Given the description of an element on the screen output the (x, y) to click on. 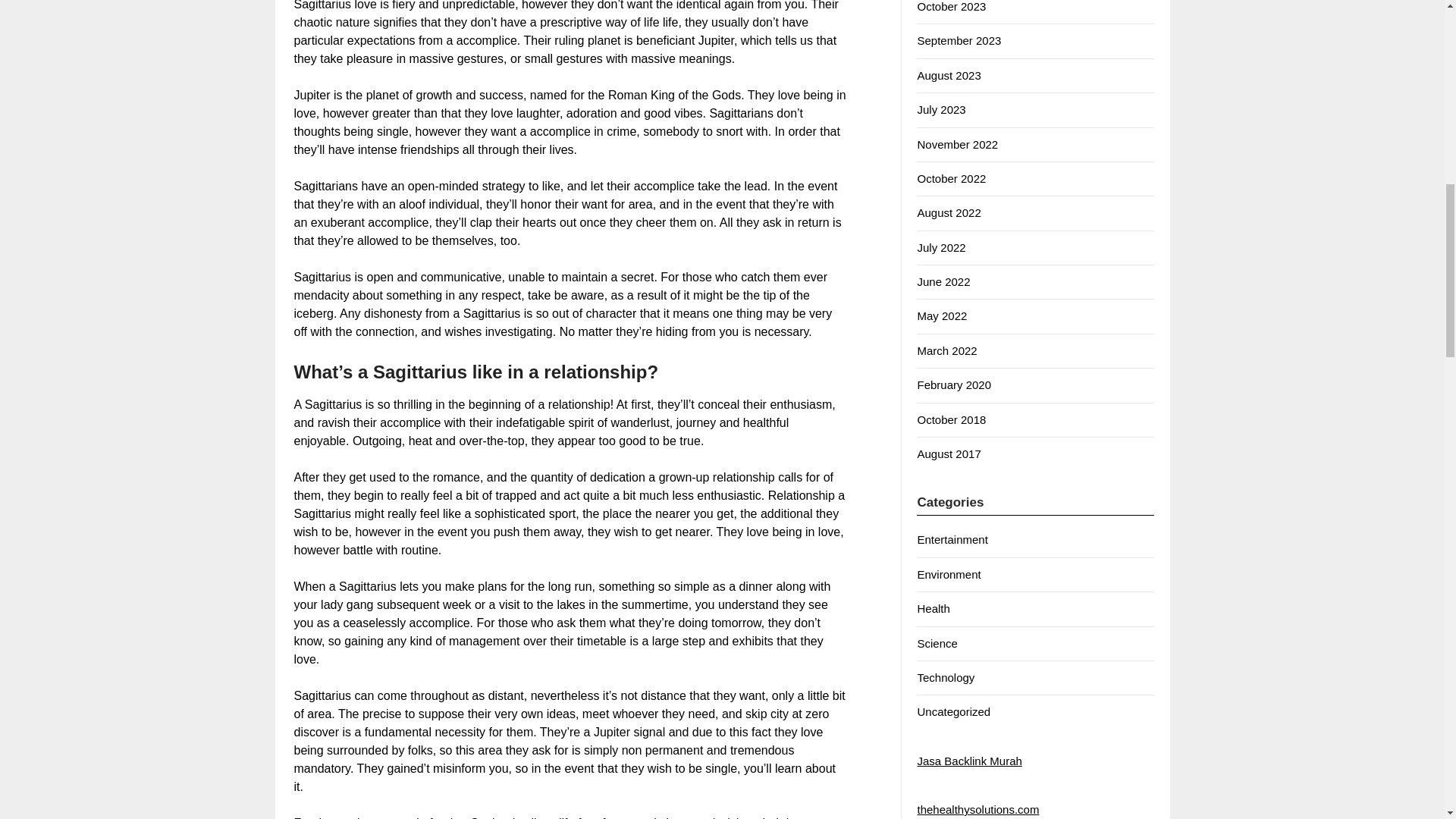
August 2023 (948, 74)
October 2022 (951, 178)
July 2023 (941, 109)
May 2022 (941, 315)
October 2023 (951, 6)
June 2022 (943, 281)
November 2022 (957, 144)
September 2023 (959, 40)
August 2022 (948, 212)
July 2022 (941, 246)
